Given the description of an element on the screen output the (x, y) to click on. 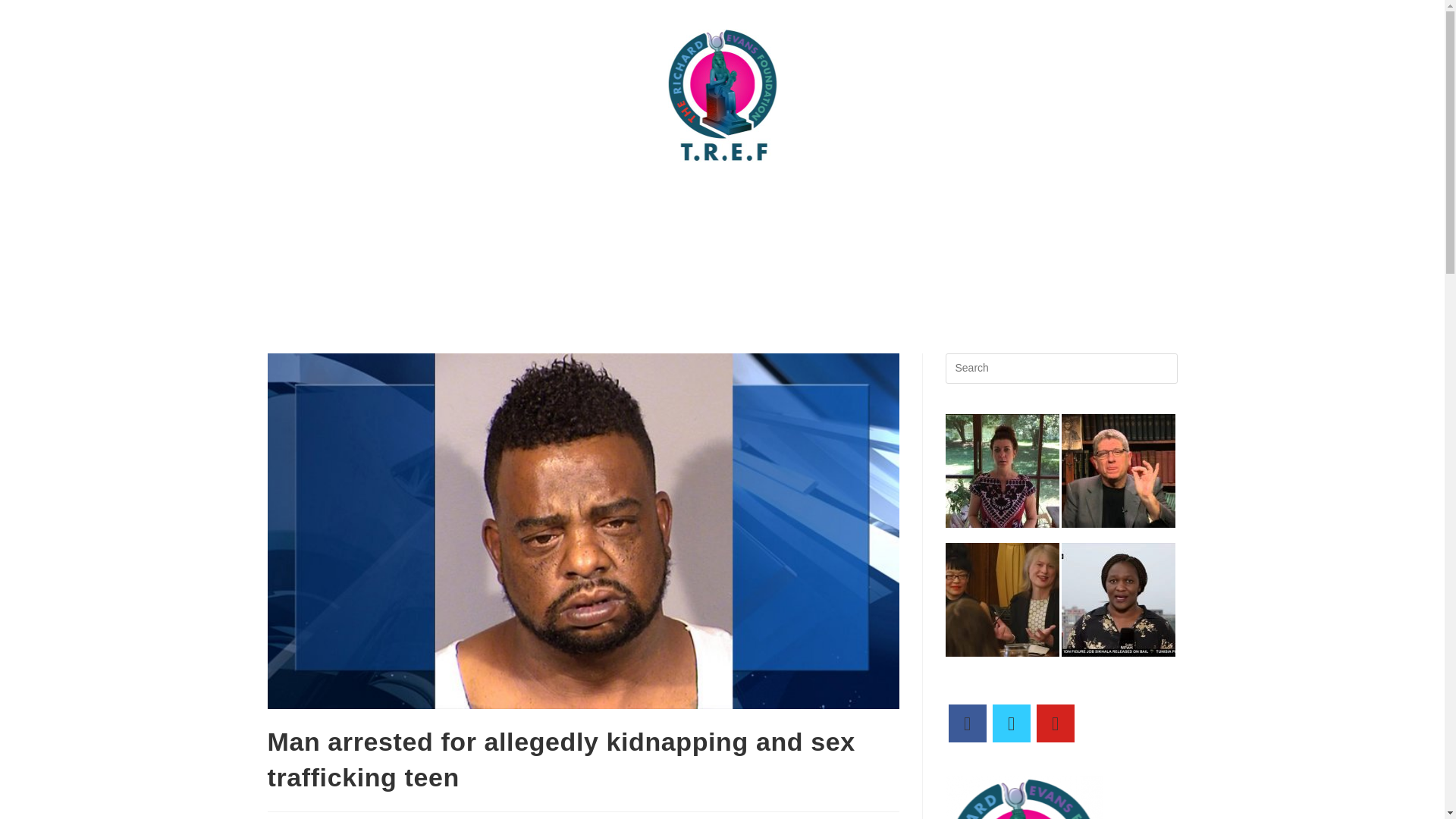
Sex Trafficking (920, 235)
Christian charities (543, 235)
CONTACT US OR DONATE TODAY: (476, 200)
Single Mothers (1030, 235)
The Bill and Melinda Gates (988, 200)
Caring (1106, 200)
Articles (627, 200)
Home (334, 200)
Charity Concerts (419, 235)
Homelessness (807, 235)
Giving Food Hungry (678, 235)
Breast Cancer Research Foundation (782, 200)
